Given the description of an element on the screen output the (x, y) to click on. 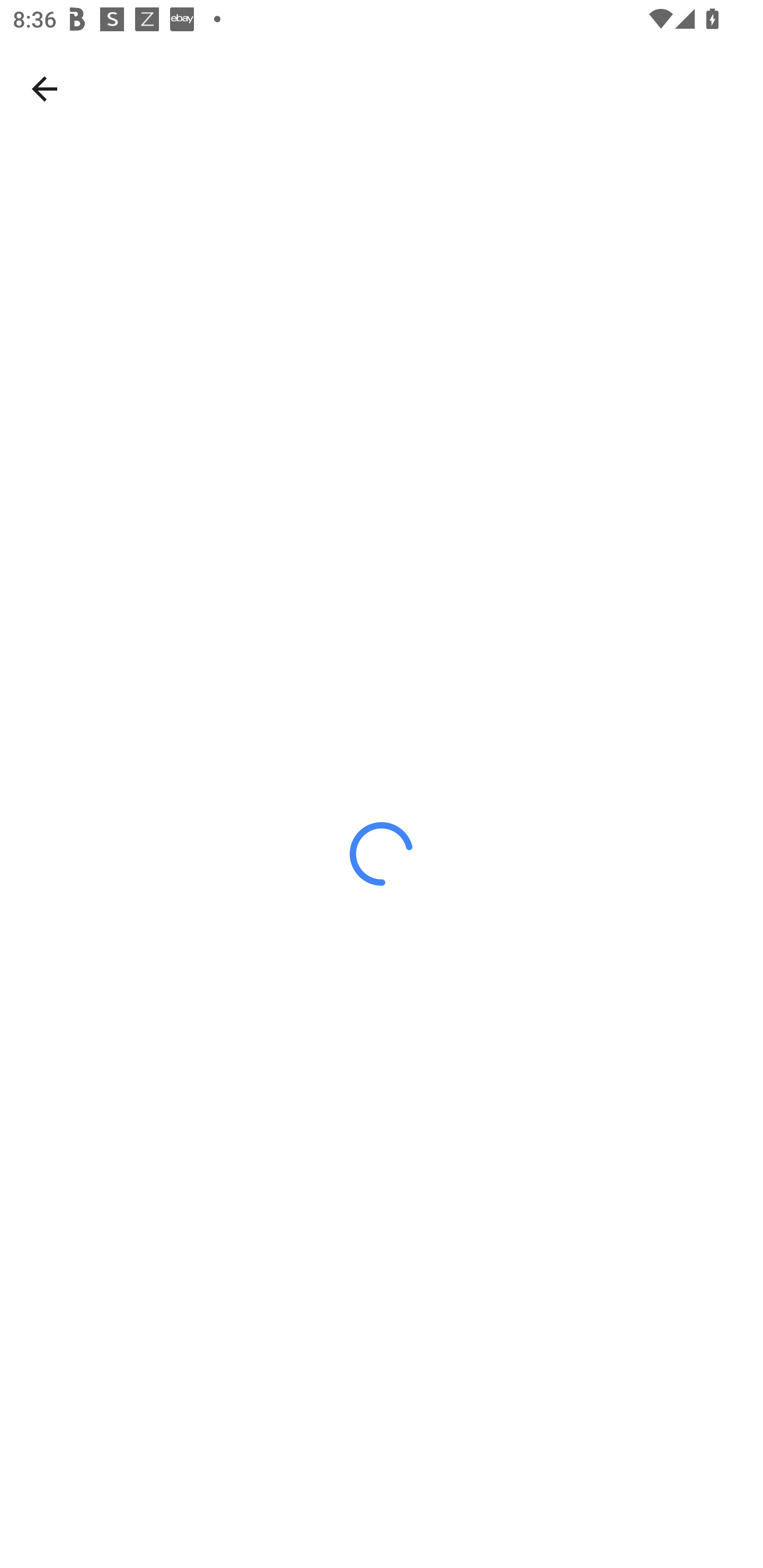
Navigate up (44, 88)
